Given the description of an element on the screen output the (x, y) to click on. 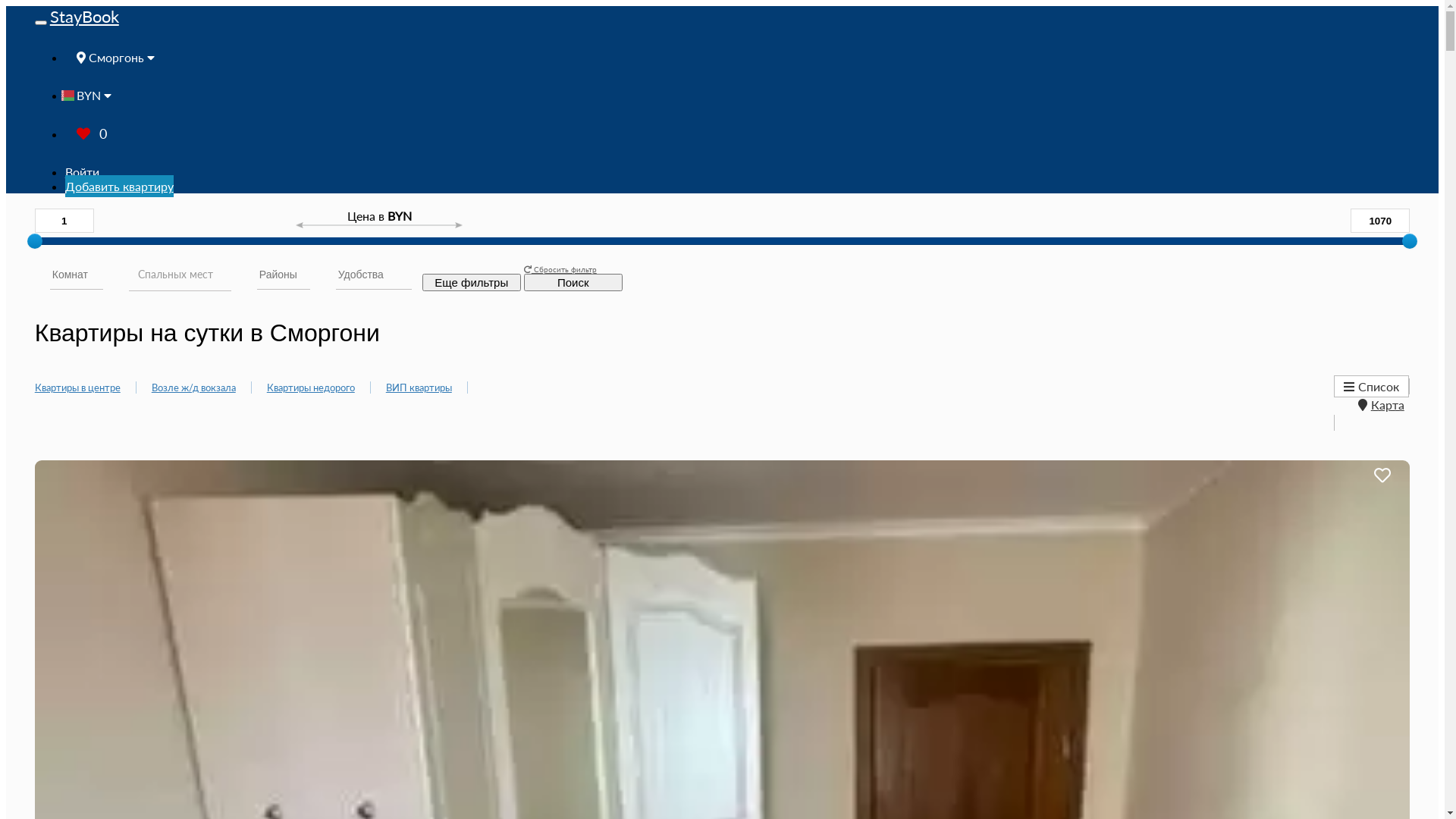
0 Element type: text (91, 133)
StayBook Element type: text (84, 16)
Toggle navigation Element type: text (40, 22)
